Given the description of an element on the screen output the (x, y) to click on. 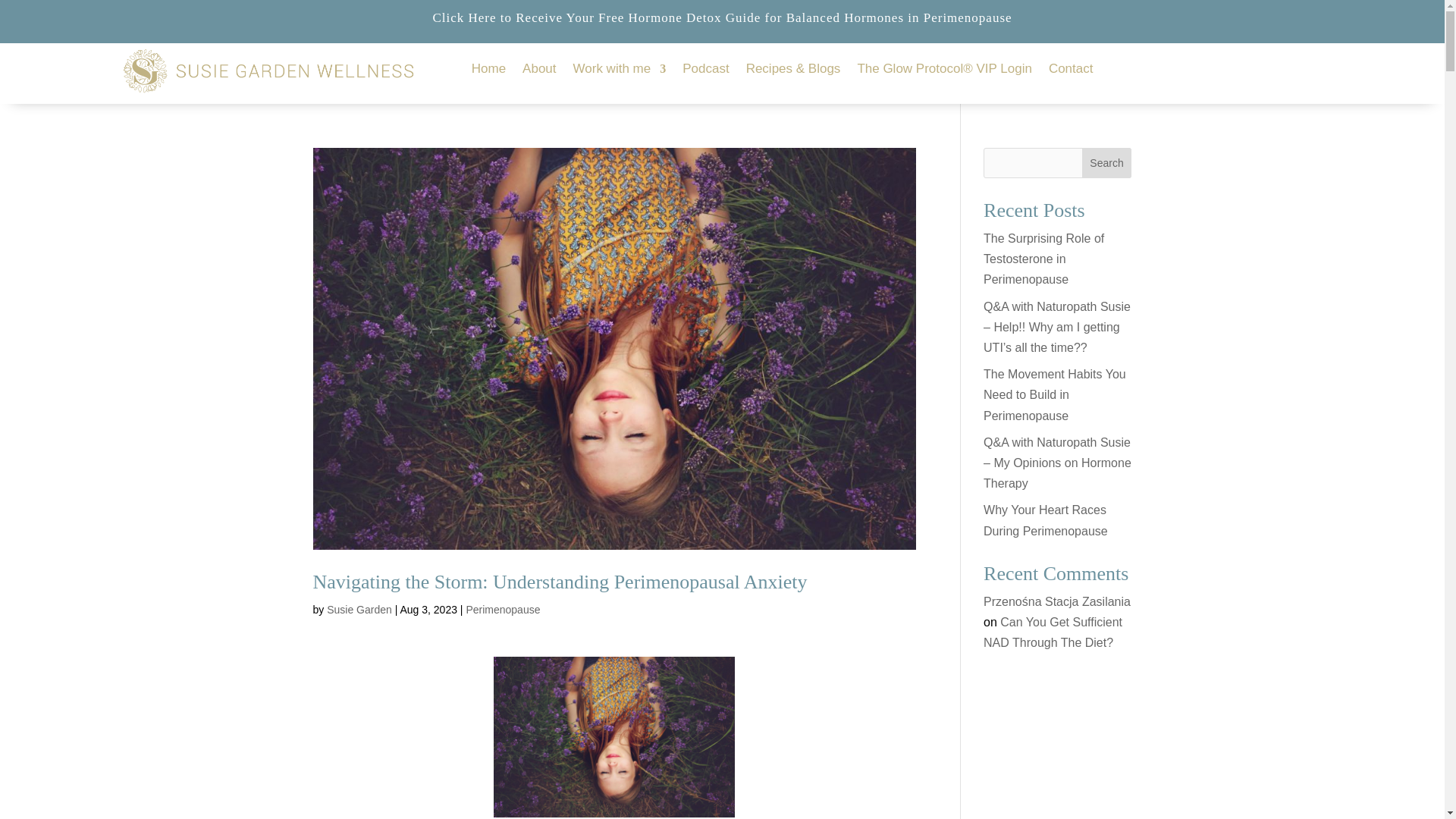
Work with me (619, 71)
Perimenopause (502, 609)
Podcast (705, 71)
Navigating the Storm: Understanding Perimenopausal Anxiety (559, 581)
Posts by Susie Garden (358, 609)
Contact (1070, 71)
perimenopause anxiety (614, 736)
Susie Garden (358, 609)
Home (488, 71)
About (539, 71)
